Given the description of an element on the screen output the (x, y) to click on. 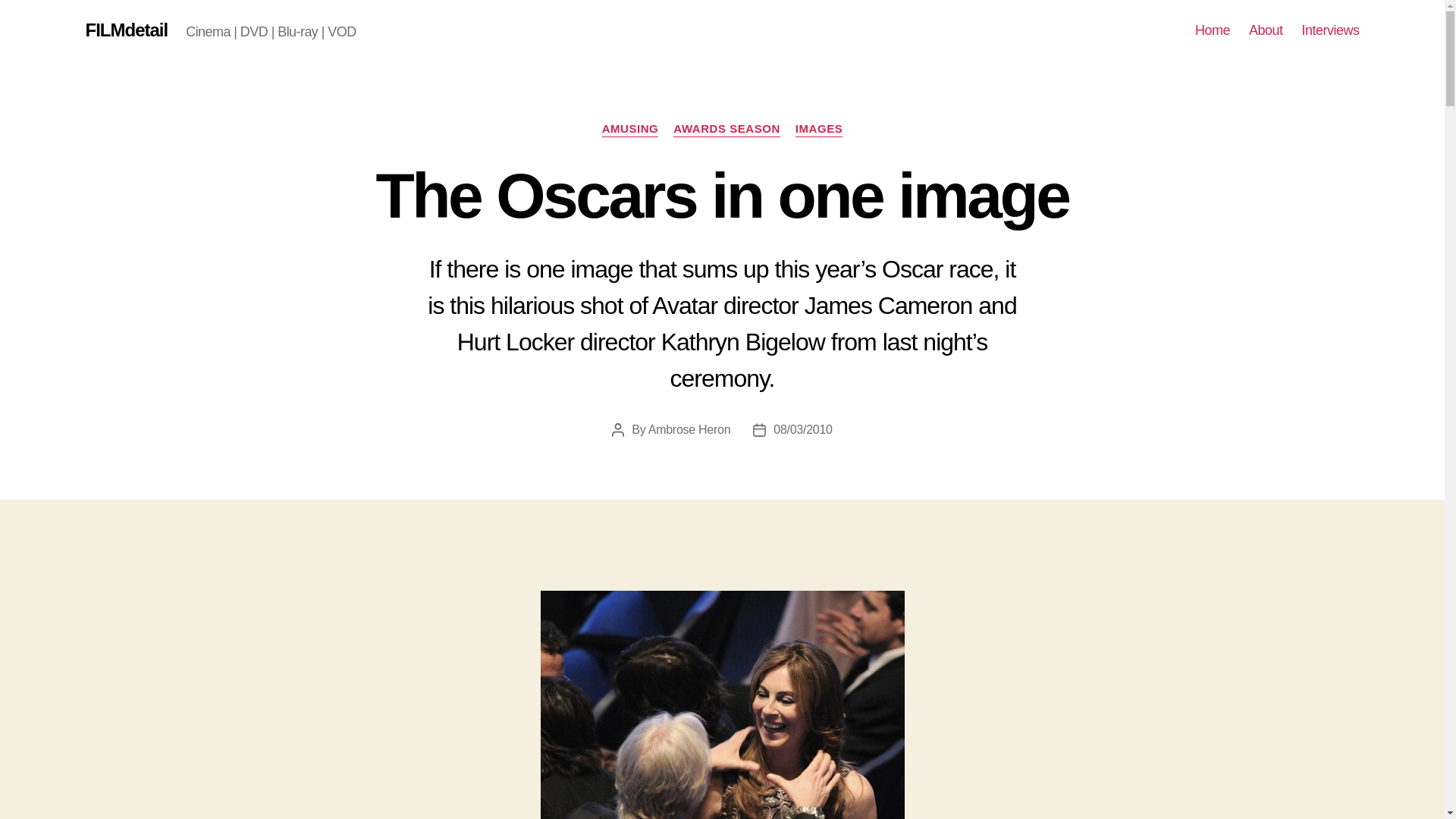
IMAGES (818, 129)
James Cameron vs Kathryn Bigelow (722, 704)
Interviews (1329, 30)
Ambrose Heron (688, 429)
Home (1212, 30)
About (1265, 30)
AWARDS SEASON (726, 129)
FILMdetail (125, 30)
AMUSING (630, 129)
